Given the description of an element on the screen output the (x, y) to click on. 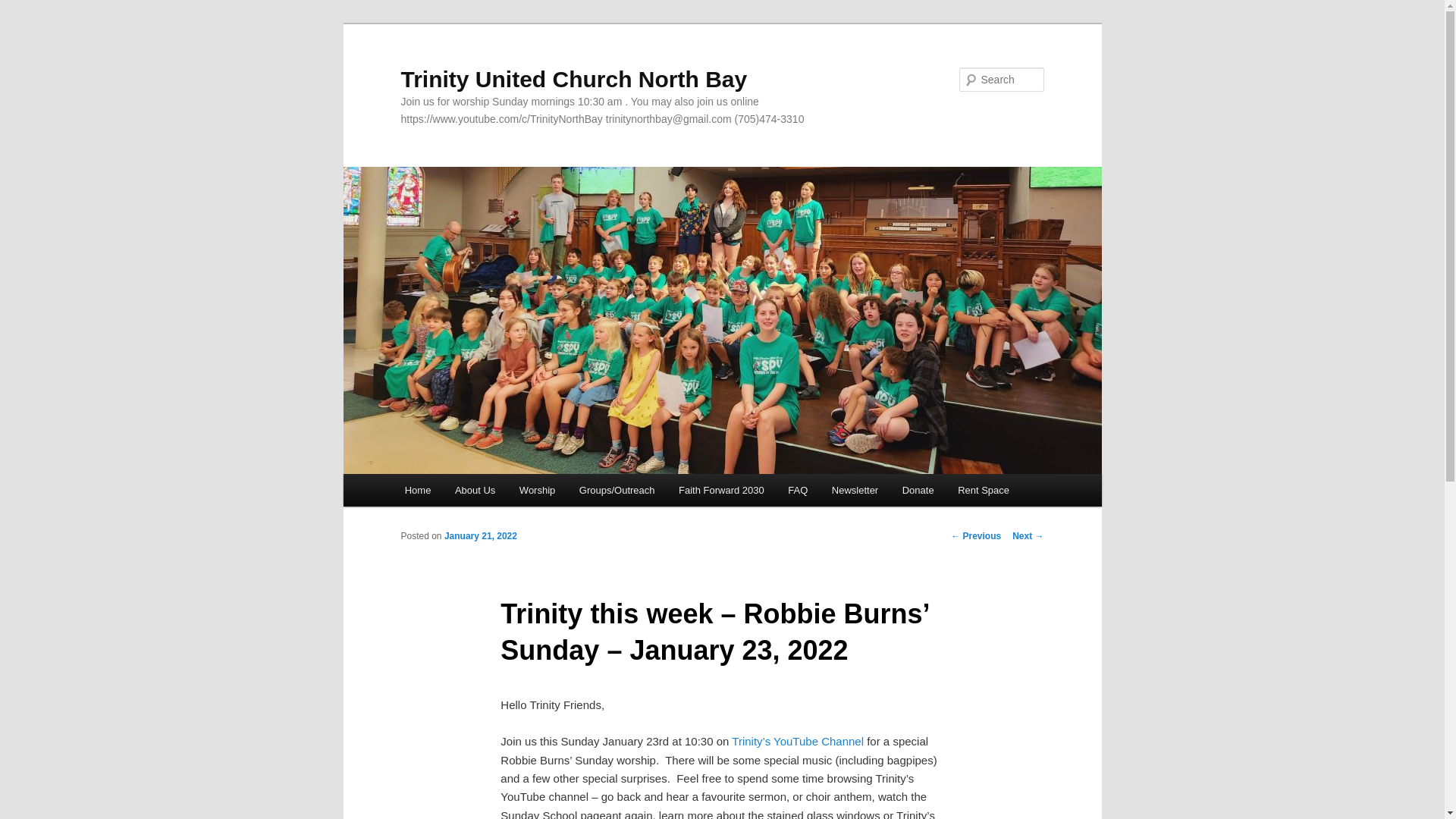
Trinity United Church North Bay (573, 78)
Search (24, 8)
Worship (536, 490)
About Us (474, 490)
Home (417, 490)
12:43 pm (480, 535)
